Given the description of an element on the screen output the (x, y) to click on. 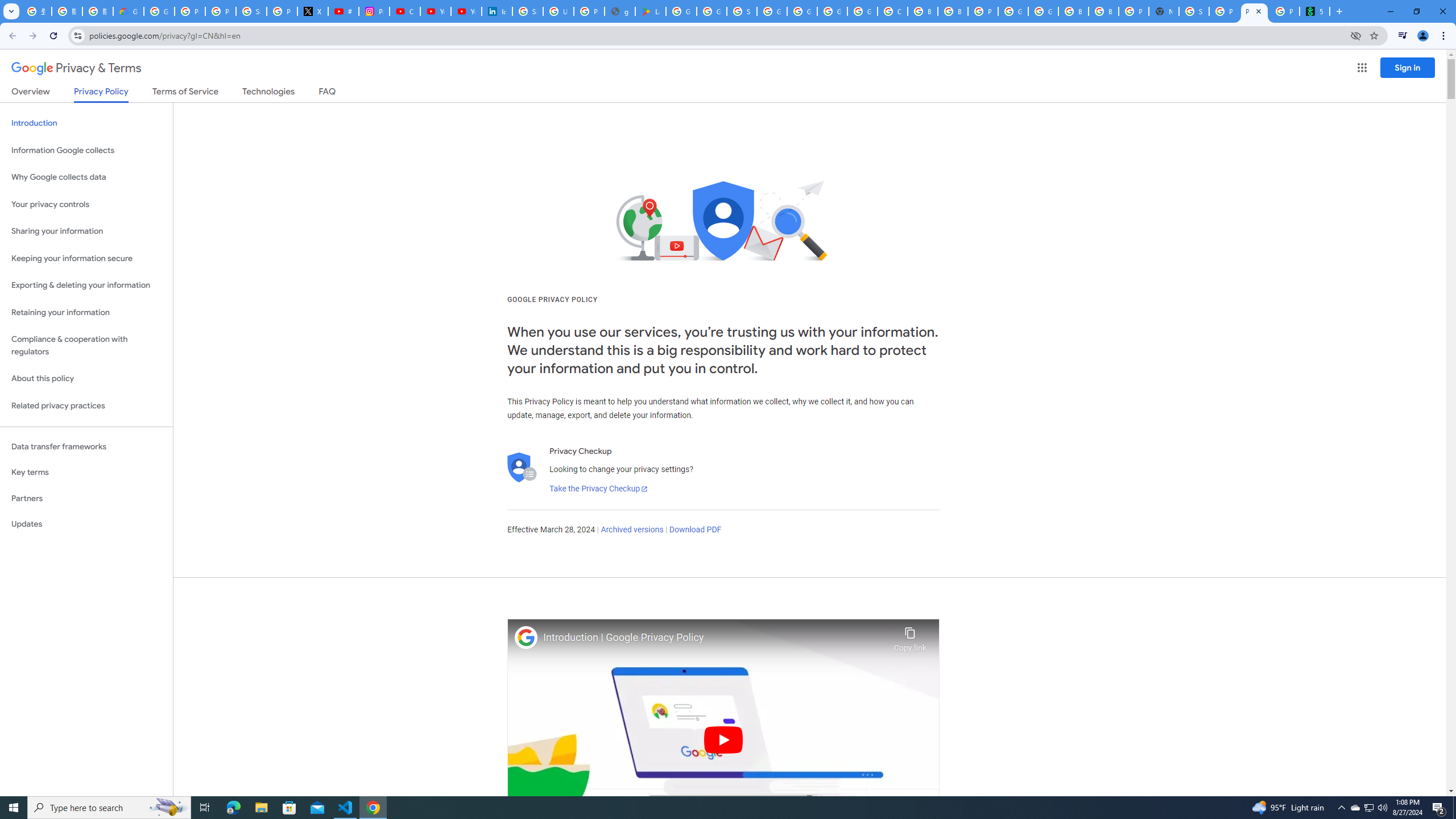
Sign in - Google Accounts (527, 11)
Information Google collects (86, 150)
Introduction | Google Privacy Policy (715, 637)
Play (723, 739)
Sharing your information (86, 230)
Control your music, videos, and more (1402, 35)
Updates (86, 524)
Take the Privacy Checkup (597, 488)
